Given the description of an element on the screen output the (x, y) to click on. 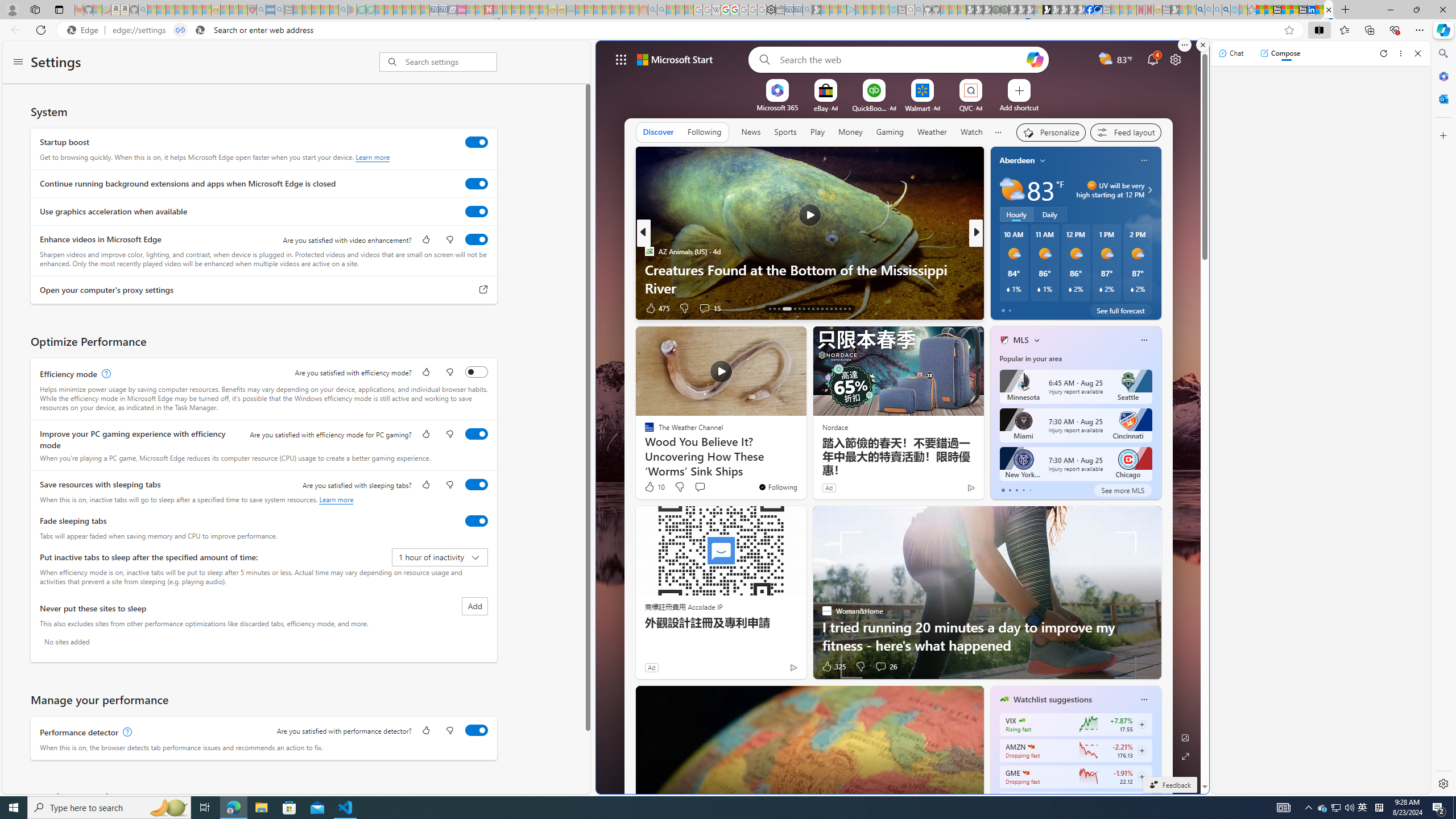
AutomationID: tab-21 (812, 308)
Terms of Use Agreement - Sleeping (361, 9)
Partly sunny (1011, 189)
View comments 26 Comment (880, 666)
View comments 6 Comment (1051, 307)
View comments 26 Comment (885, 666)
